Given the description of an element on the screen output the (x, y) to click on. 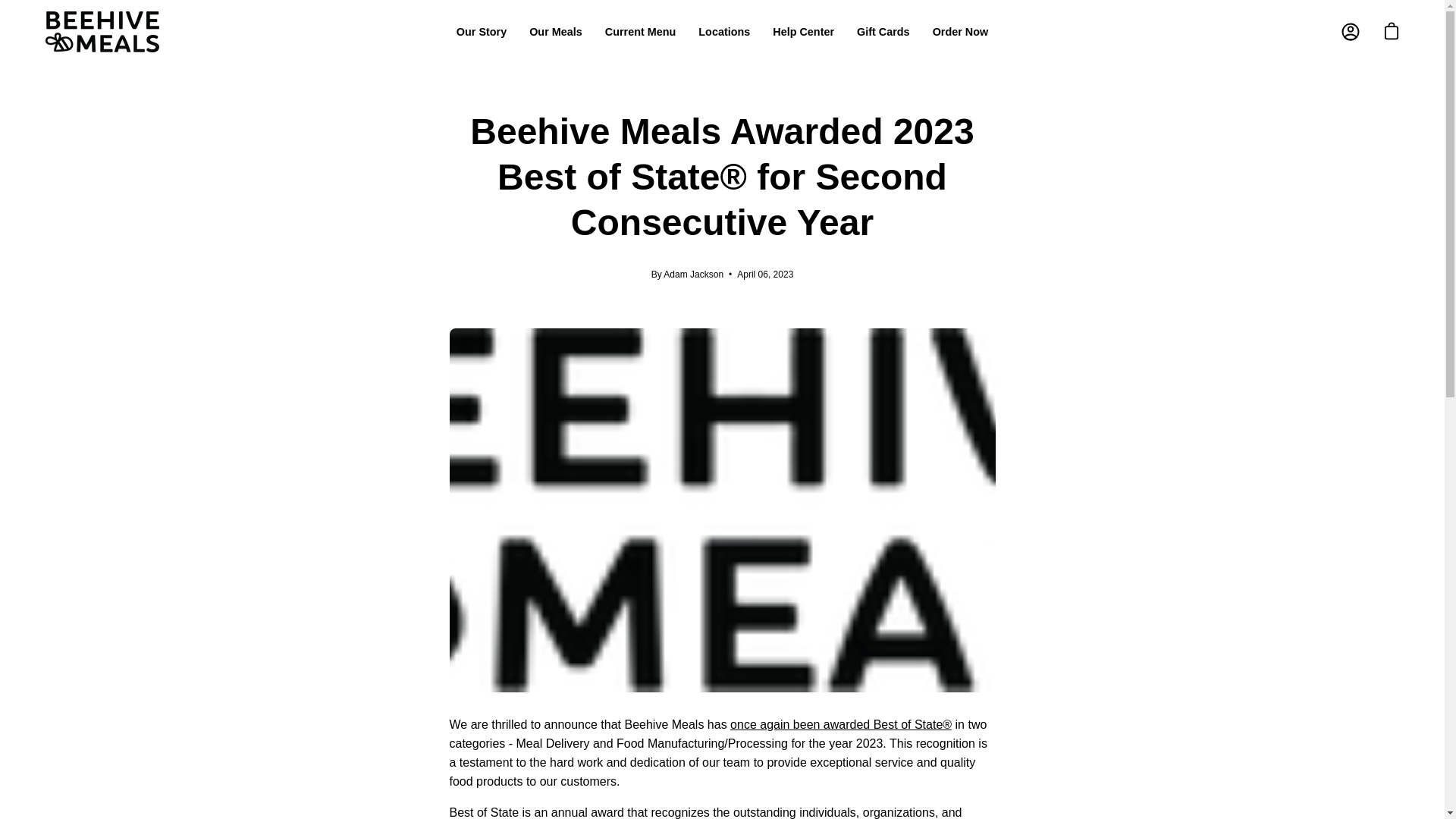
Locations (724, 32)
Gift Cards (883, 32)
Our Meals (556, 32)
Order Now (960, 32)
Current Menu (640, 32)
My Account (1350, 31)
Open cart (1390, 31)
Our Story (481, 32)
Help Center (803, 32)
